Given the description of an element on the screen output the (x, y) to click on. 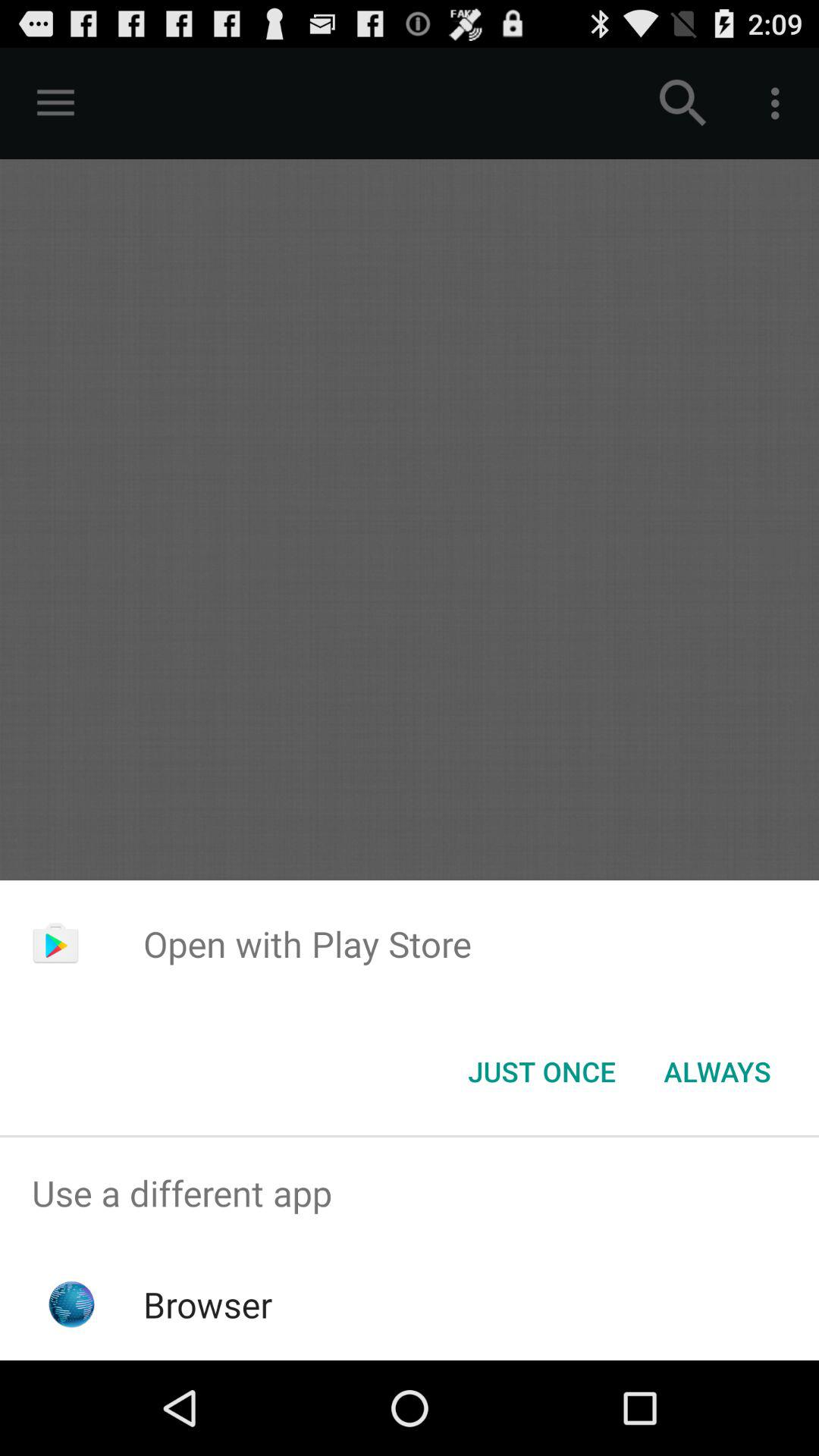
swipe until the always (717, 1071)
